Given the description of an element on the screen output the (x, y) to click on. 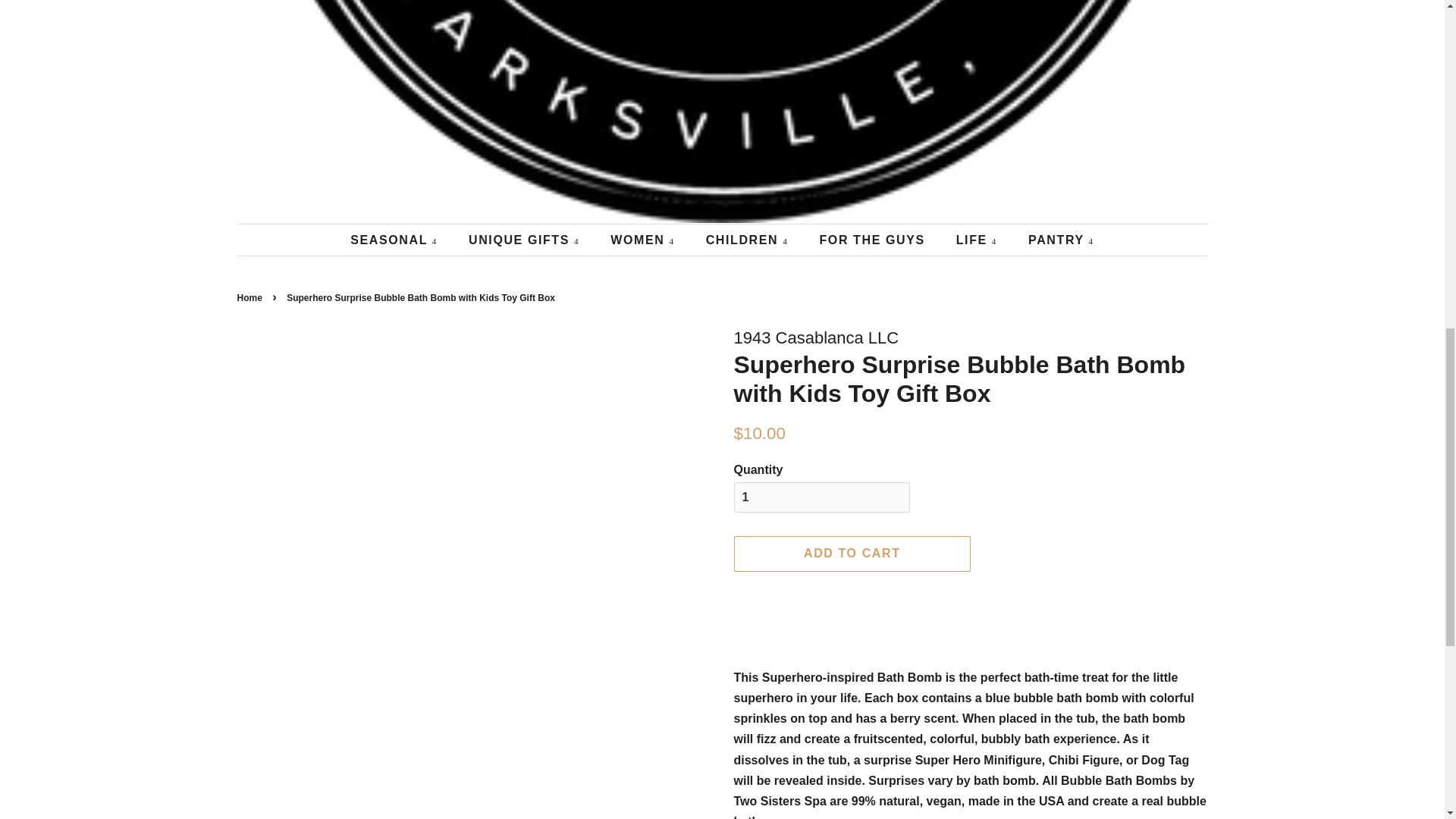
Back to the frontpage (249, 297)
1 (821, 497)
